Given the description of an element on the screen output the (x, y) to click on. 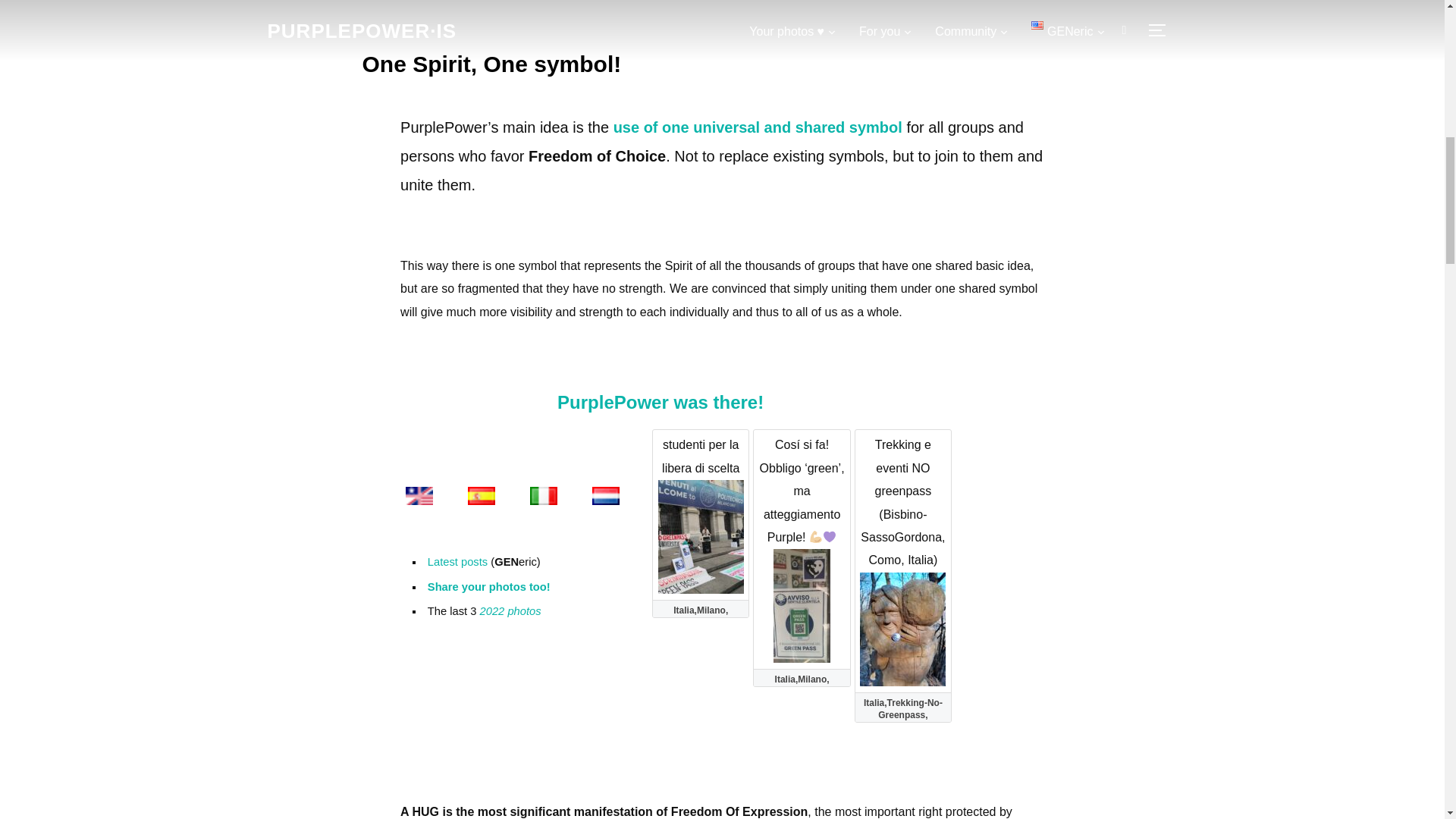
studenti per la libera di scelta (701, 490)
